Given the description of an element on the screen output the (x, y) to click on. 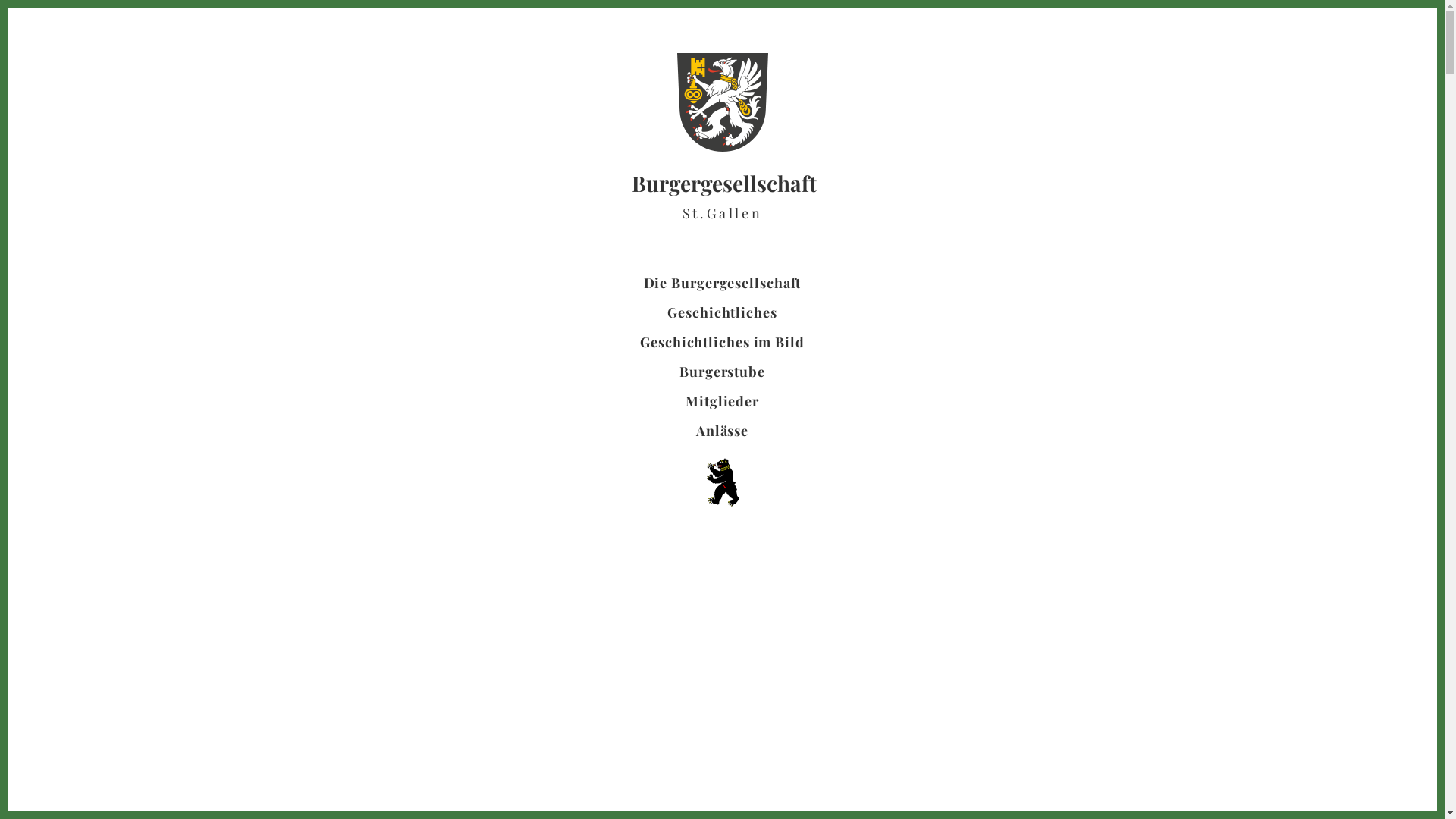
Anmelden Element type: text (1409, 14)
